Given the description of an element on the screen output the (x, y) to click on. 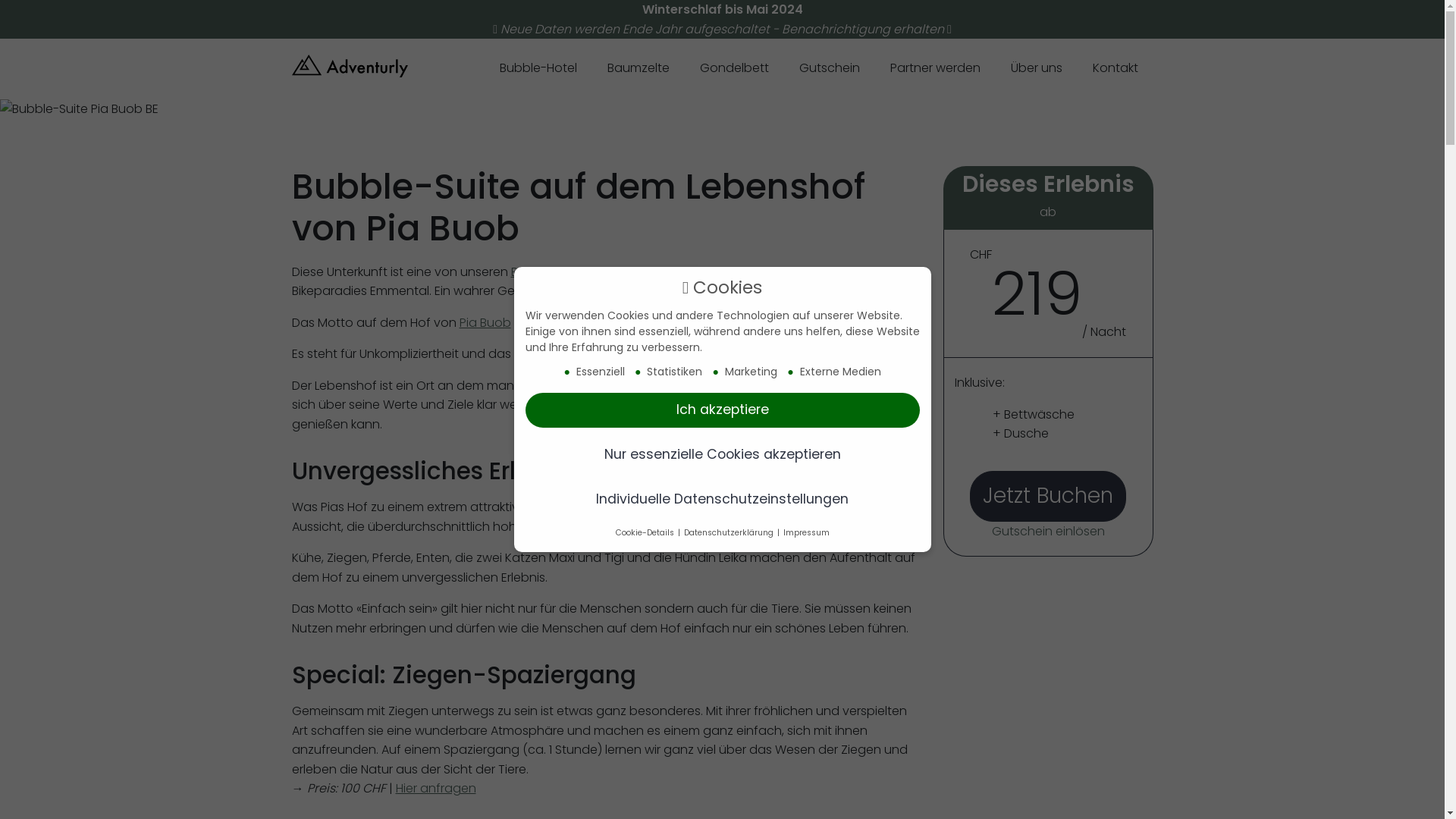
Individuelle Datenschutzeinstellungen Element type: text (721, 499)
Impressum Element type: text (805, 532)
Partner werden Element type: text (935, 69)
Gondelbett Element type: text (733, 69)
Baumzelte Element type: text (637, 69)
Jetzt Buchen Element type: text (1047, 495)
Bubble-Hotel Element type: text (669, 506)
Nur essenzielle Cookies akzeptieren Element type: text (721, 454)
Cookie-Details Element type: text (645, 532)
Ich akzeptiere Element type: text (721, 409)
Bubble-Suites in Bern Element type: text (572, 270)
Hier anfragen Element type: text (435, 788)
Bubble-Hotel Element type: text (537, 69)
Benachrichtigung erhalten Element type: text (862, 28)
Kontakt Element type: text (1114, 69)
Pia Buob Element type: text (485, 322)
Gutschein Element type: text (829, 69)
